Given the description of an element on the screen output the (x, y) to click on. 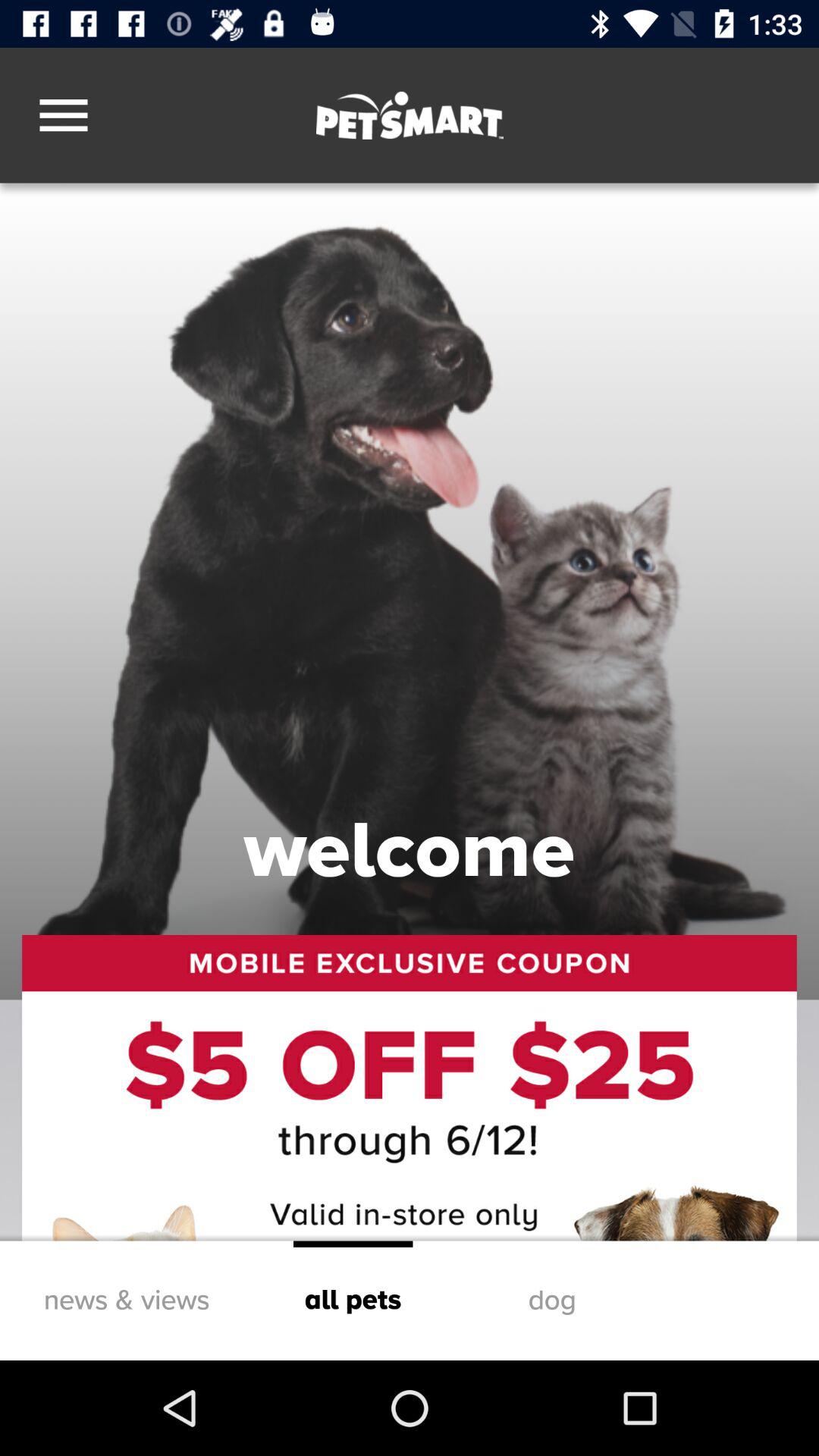
scroll until dog (552, 1300)
